Given the description of an element on the screen output the (x, y) to click on. 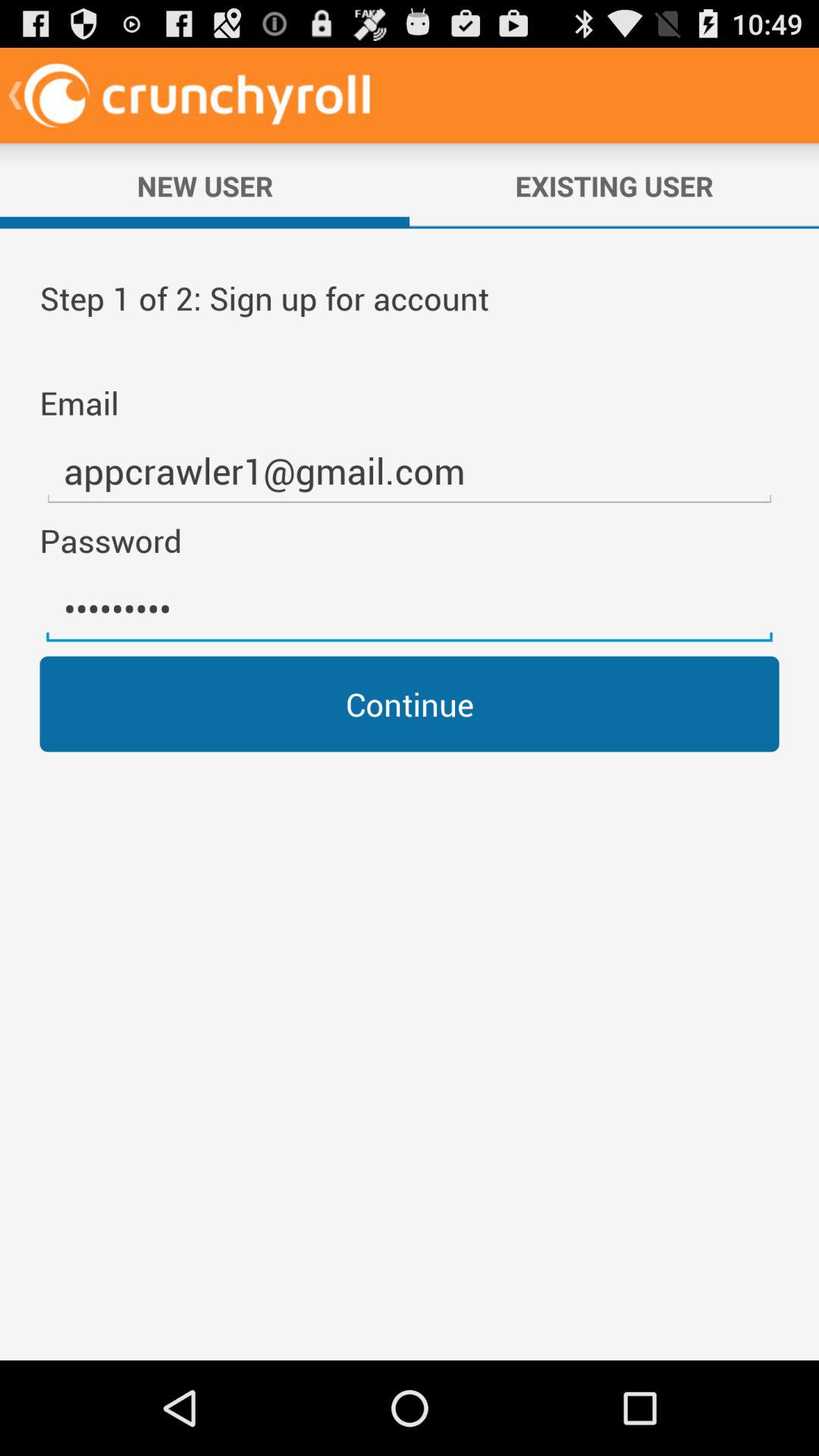
click the item above the continue item (409, 608)
